Given the description of an element on the screen output the (x, y) to click on. 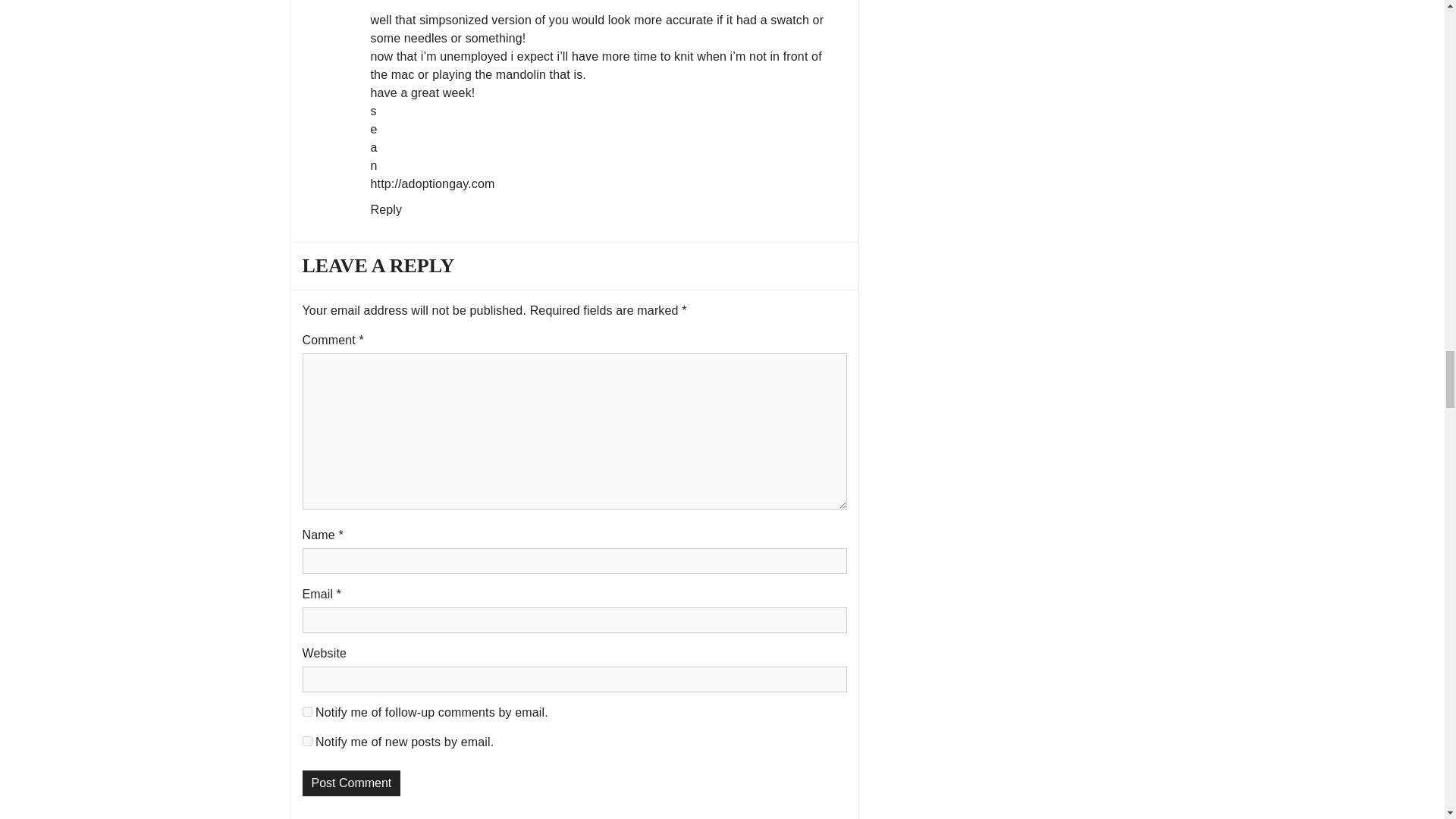
subscribe (306, 711)
Post Comment (350, 783)
subscribe (306, 741)
